Given the description of an element on the screen output the (x, y) to click on. 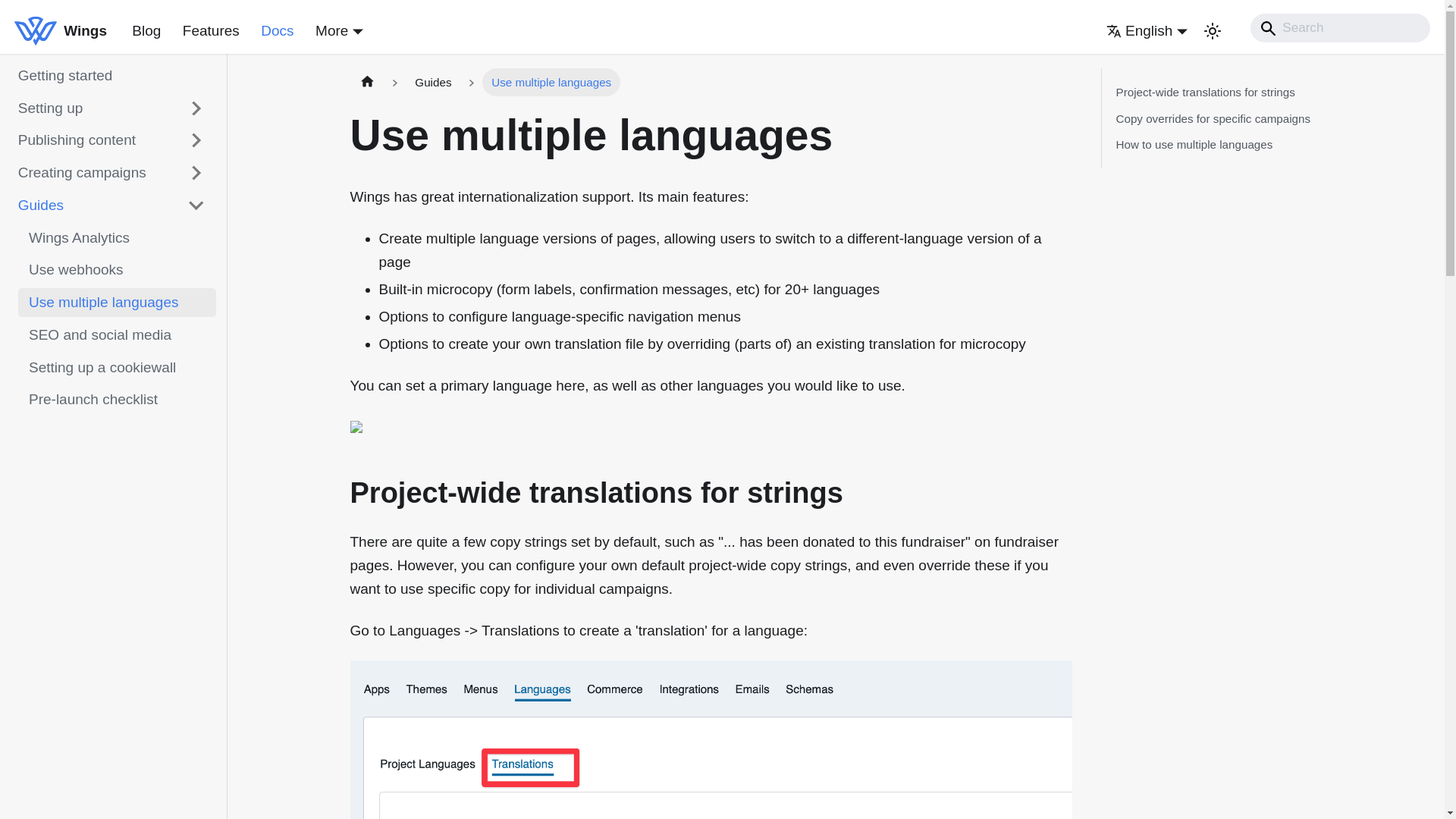
Pre-launch checklist (116, 399)
English (1147, 30)
Wings Analytics (116, 236)
Guides (111, 205)
Use webhooks (116, 269)
Setting up (111, 108)
Blog (145, 30)
Features (210, 30)
Wings (60, 30)
